Given the description of an element on the screen output the (x, y) to click on. 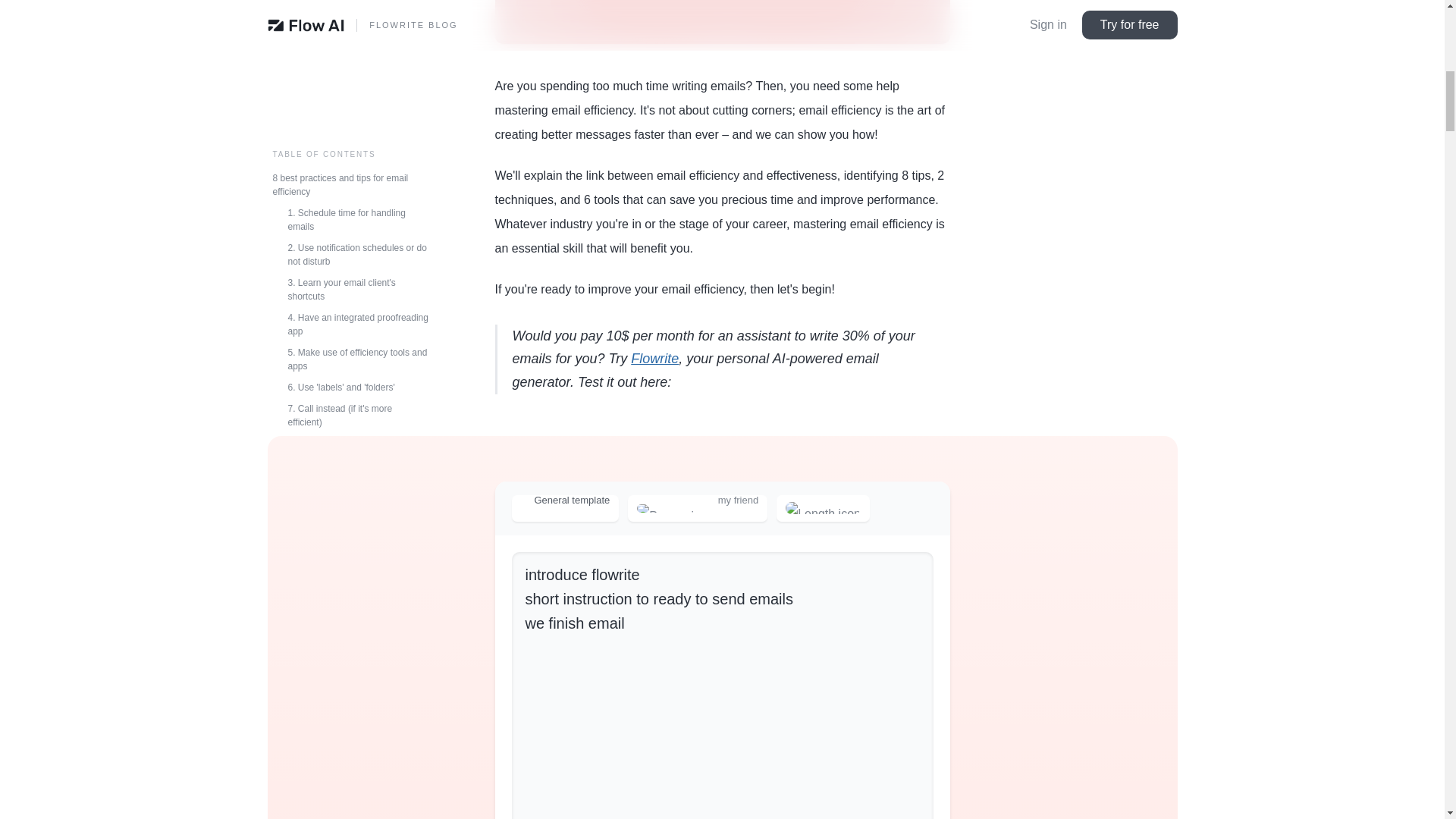
5. Make use of efficiency tools and apps (349, 27)
2. Superhuman (349, 293)
Email process 2: Flowrite AI templates (349, 209)
Final words (349, 400)
How to process emails efficiently (349, 147)
5. Boomerang (349, 357)
3. Grammarly (349, 314)
1. Flowrite (349, 272)
Flowrite (654, 358)
4. Have an integrated proofreading app (349, 5)
General template (564, 508)
6. Use 'labels' and 'folders' (349, 55)
6 of the best email efficiency tools and apps (349, 244)
8. Learn and develop a process to manage emails (349, 118)
Email process 1: Harvard Business Review (349, 175)
